Given the description of an element on the screen output the (x, y) to click on. 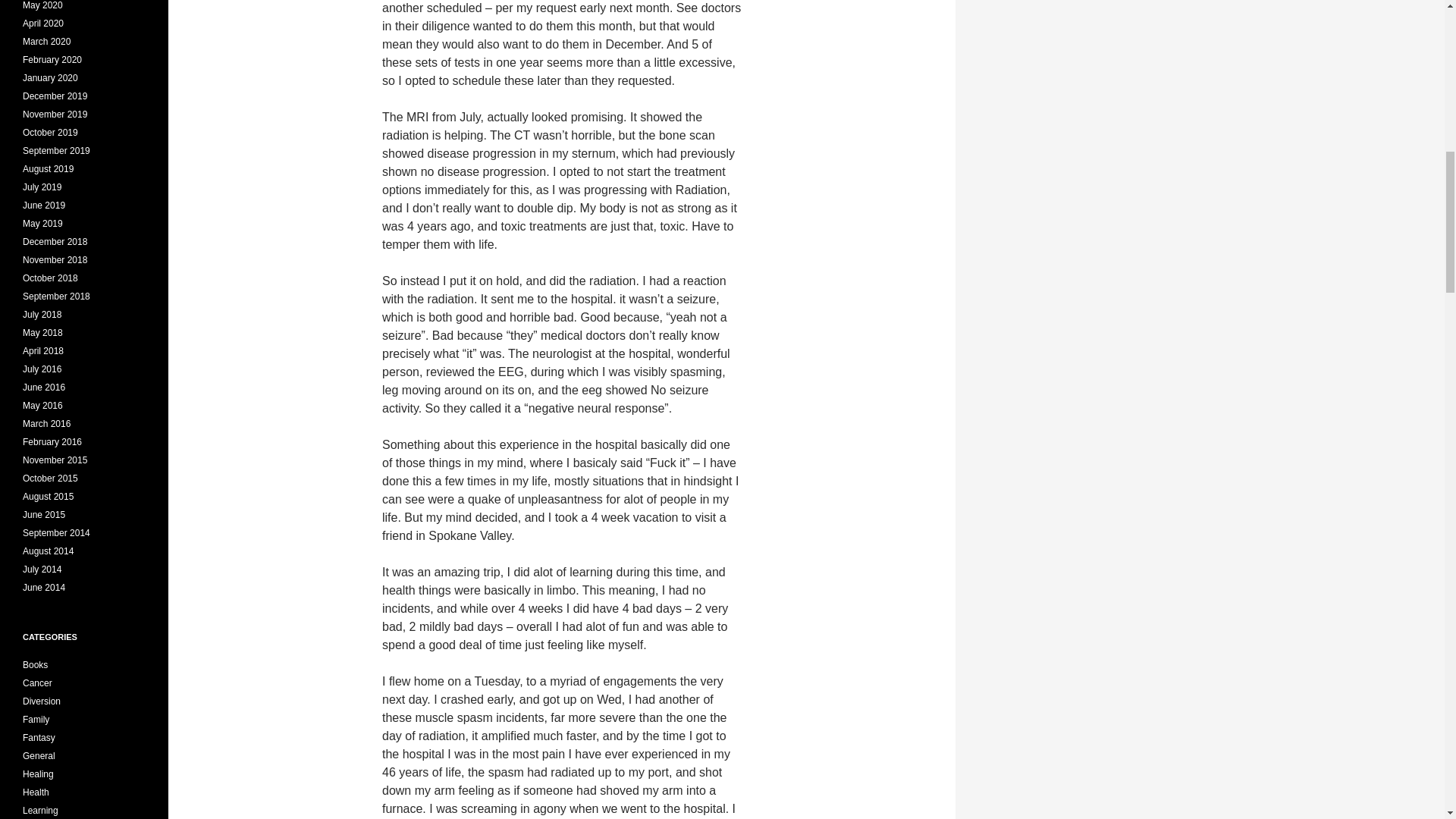
How to cure cancer - My Journey to healing (38, 774)
Cancer - notes, blog history information about my journey (37, 683)
